Given the description of an element on the screen output the (x, y) to click on. 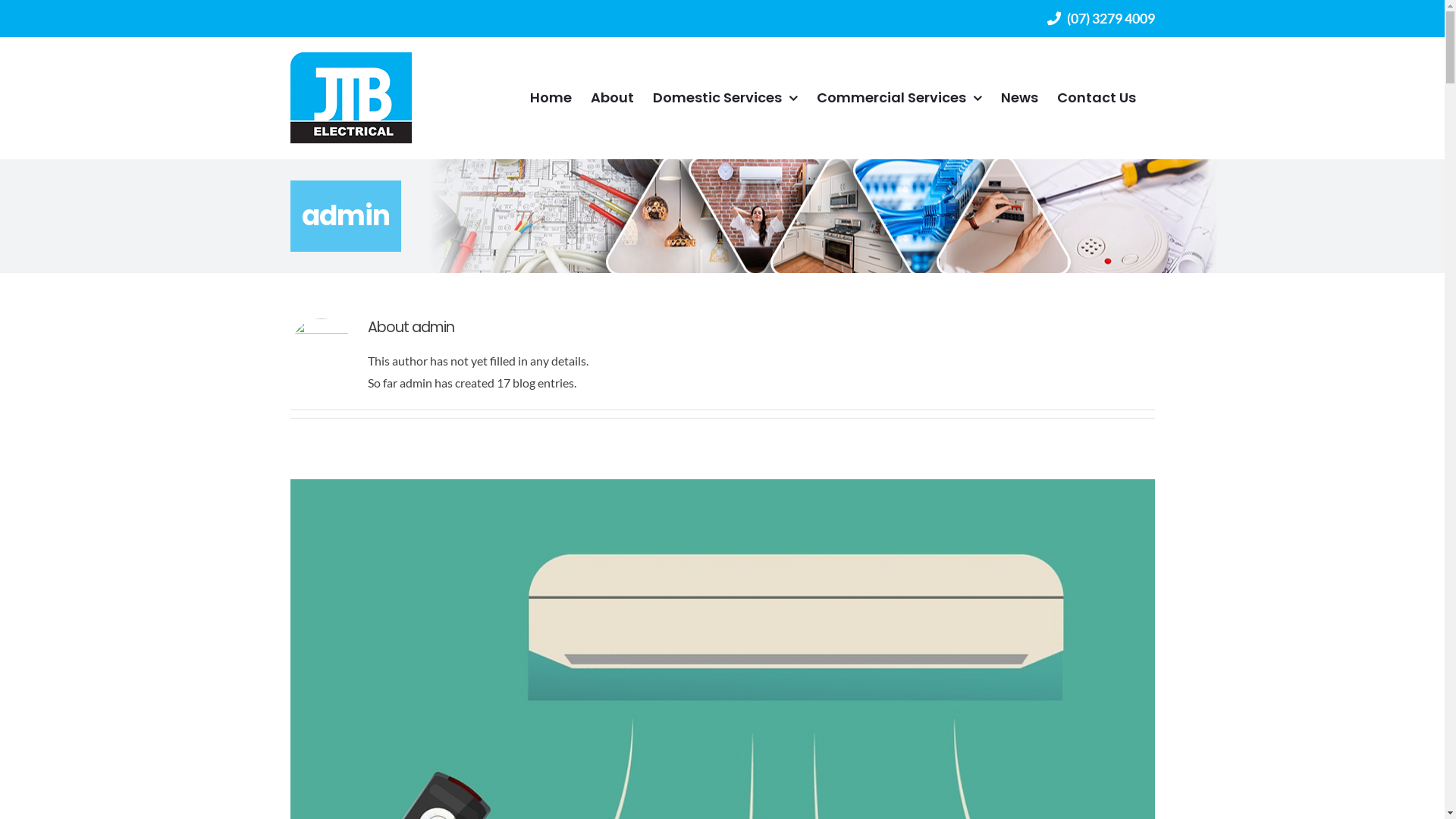
(07) 3279 4009 Element type: text (1100, 17)
News Element type: text (1019, 97)
Domestic Services Element type: text (724, 97)
Commercial Services Element type: text (898, 97)
About Element type: text (611, 97)
Contact Us Element type: text (1096, 97)
Home Element type: text (550, 97)
